Given the description of an element on the screen output the (x, y) to click on. 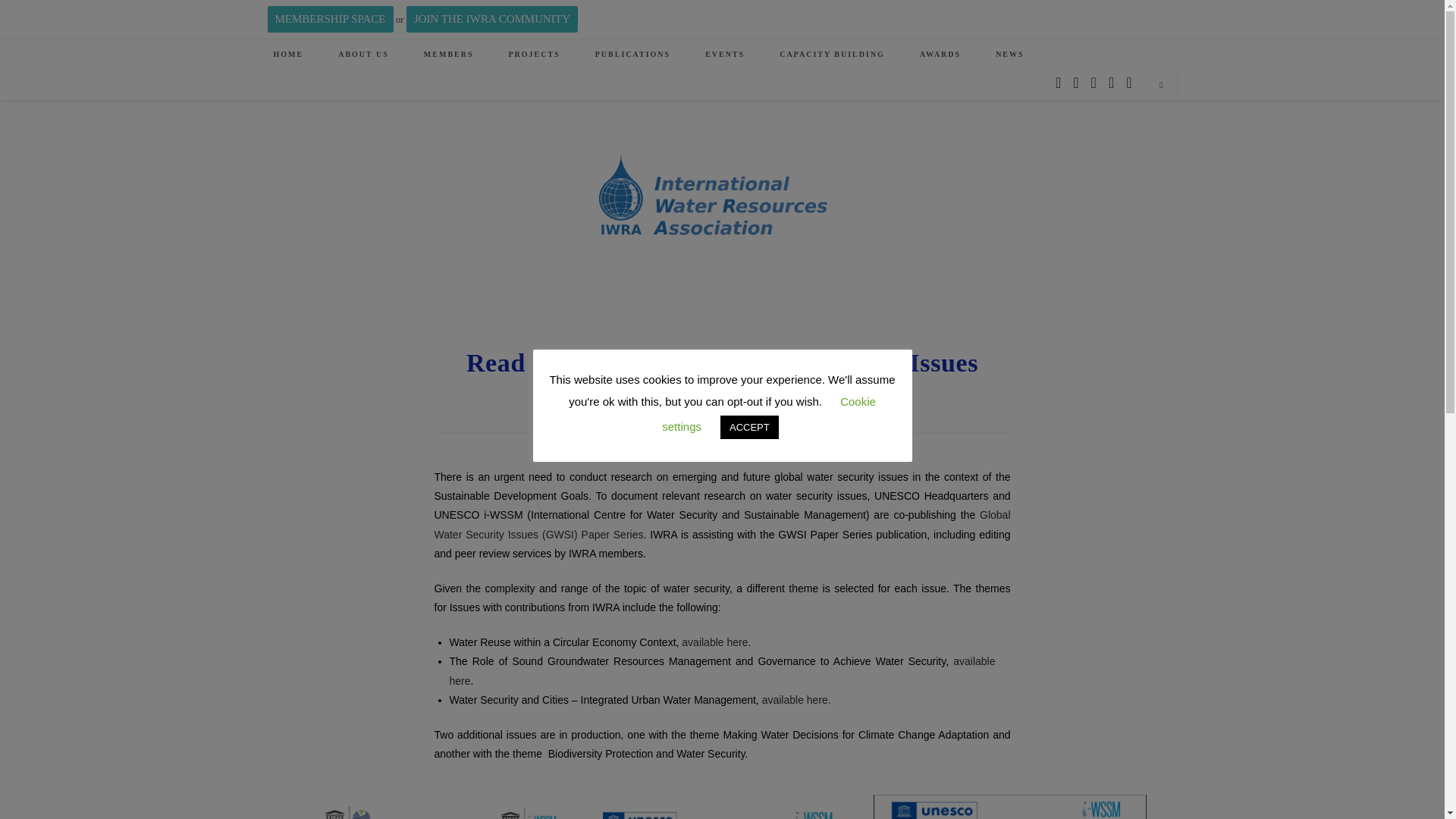
MEMBERSHIP SPACE (329, 18)
ABOUT US (363, 54)
JOIN THE IWRA COMMUNITY (492, 18)
HOME (288, 54)
MEMBERS (449, 54)
